Given the description of an element on the screen output the (x, y) to click on. 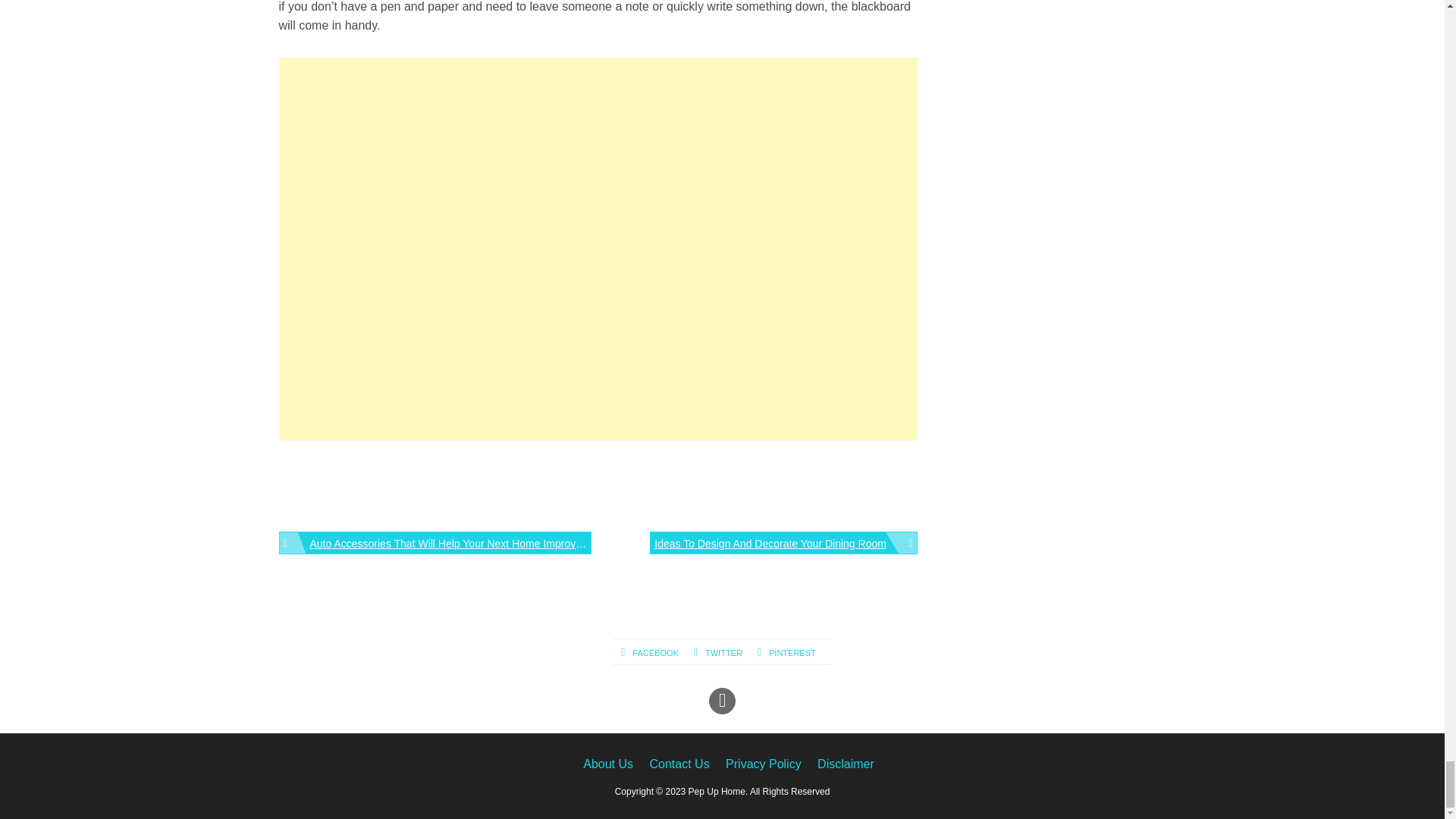
Ideas To Design And Decorate Your Dining Room (783, 542)
PINTEREST (794, 652)
TWITTER (725, 652)
About Us (608, 763)
FACEBOOK (657, 652)
